Given the description of an element on the screen output the (x, y) to click on. 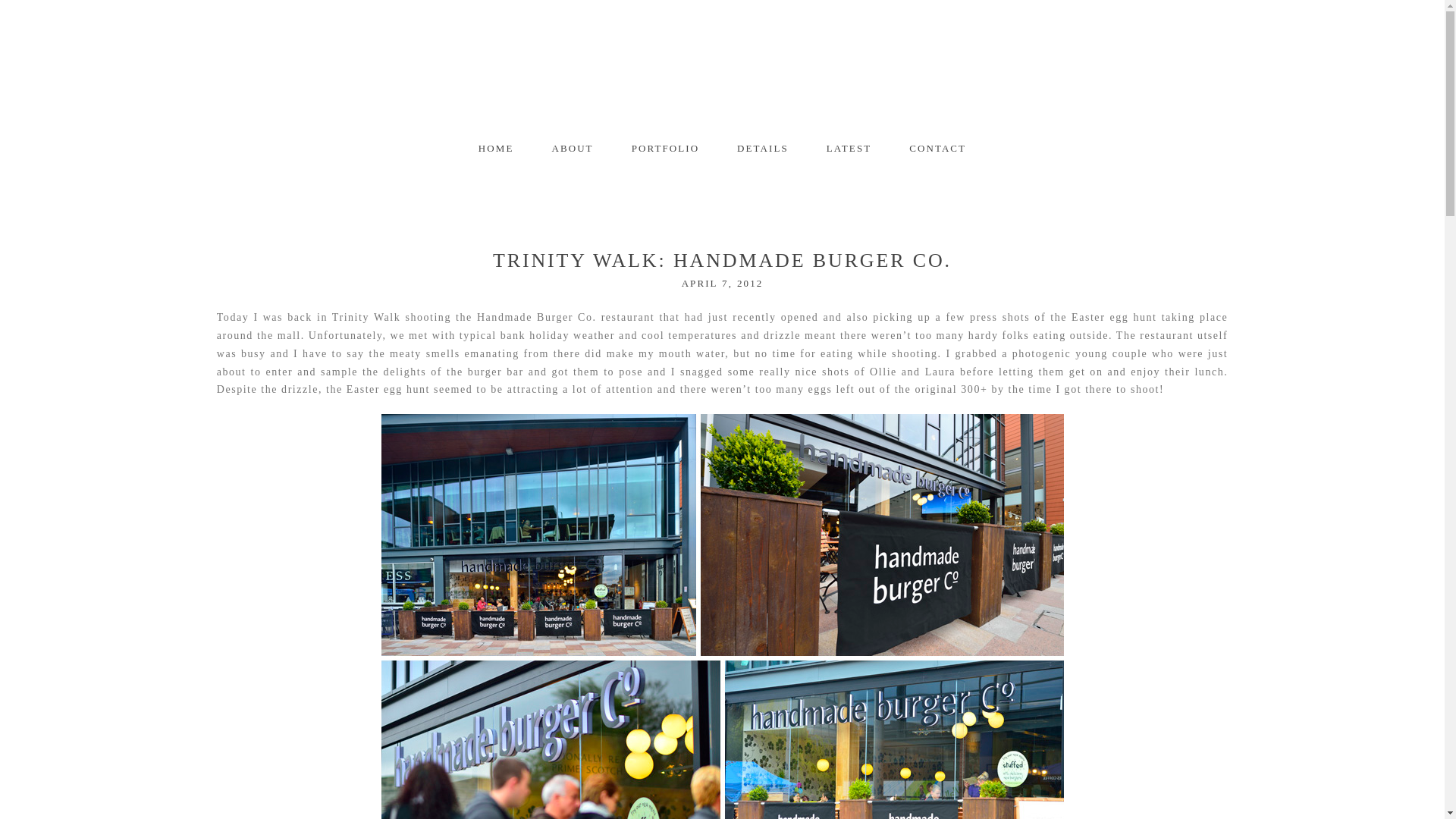
PORTFOLIO (721, 66)
DETAILS (664, 147)
ABOUT (762, 147)
CONTACT (571, 147)
LATEST (937, 147)
HOME (848, 147)
